Given the description of an element on the screen output the (x, y) to click on. 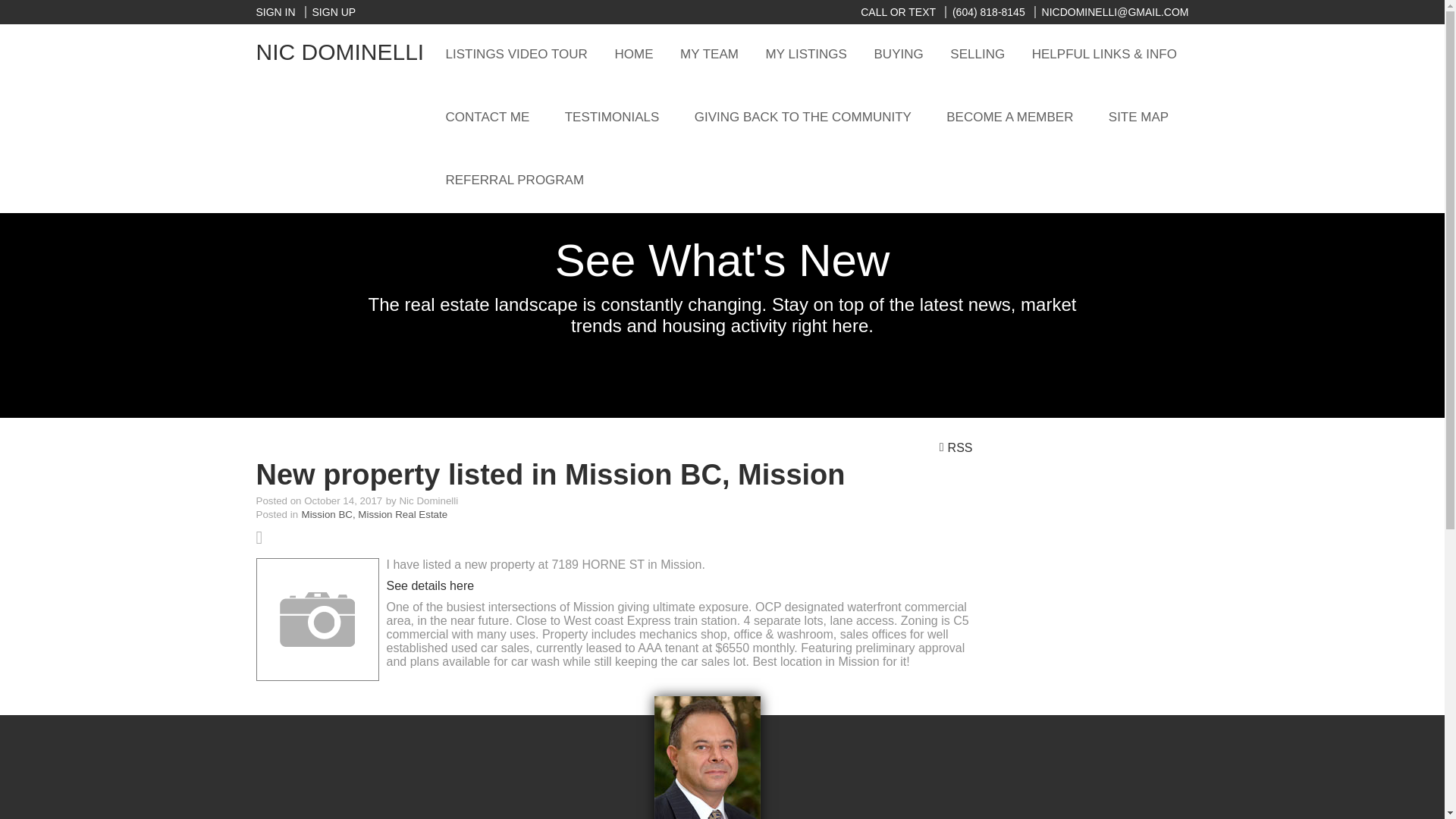
CONTACT ME (497, 117)
RSS (957, 446)
LISTINGS VIDEO TOUR (522, 54)
See details here (430, 585)
BECOME A MEMBER (1019, 117)
SELLING (982, 54)
Mission BC, Mission Real Estate (374, 514)
TESTIMONIALS (622, 117)
SITE MAP (1148, 117)
BUYING (904, 54)
REFERRAL PROGRAM (817, 179)
SIGN IN (275, 11)
MY TEAM (714, 54)
GIVING BACK TO THE COMMUNITY (813, 117)
MY LISTINGS (812, 54)
